Given the description of an element on the screen output the (x, y) to click on. 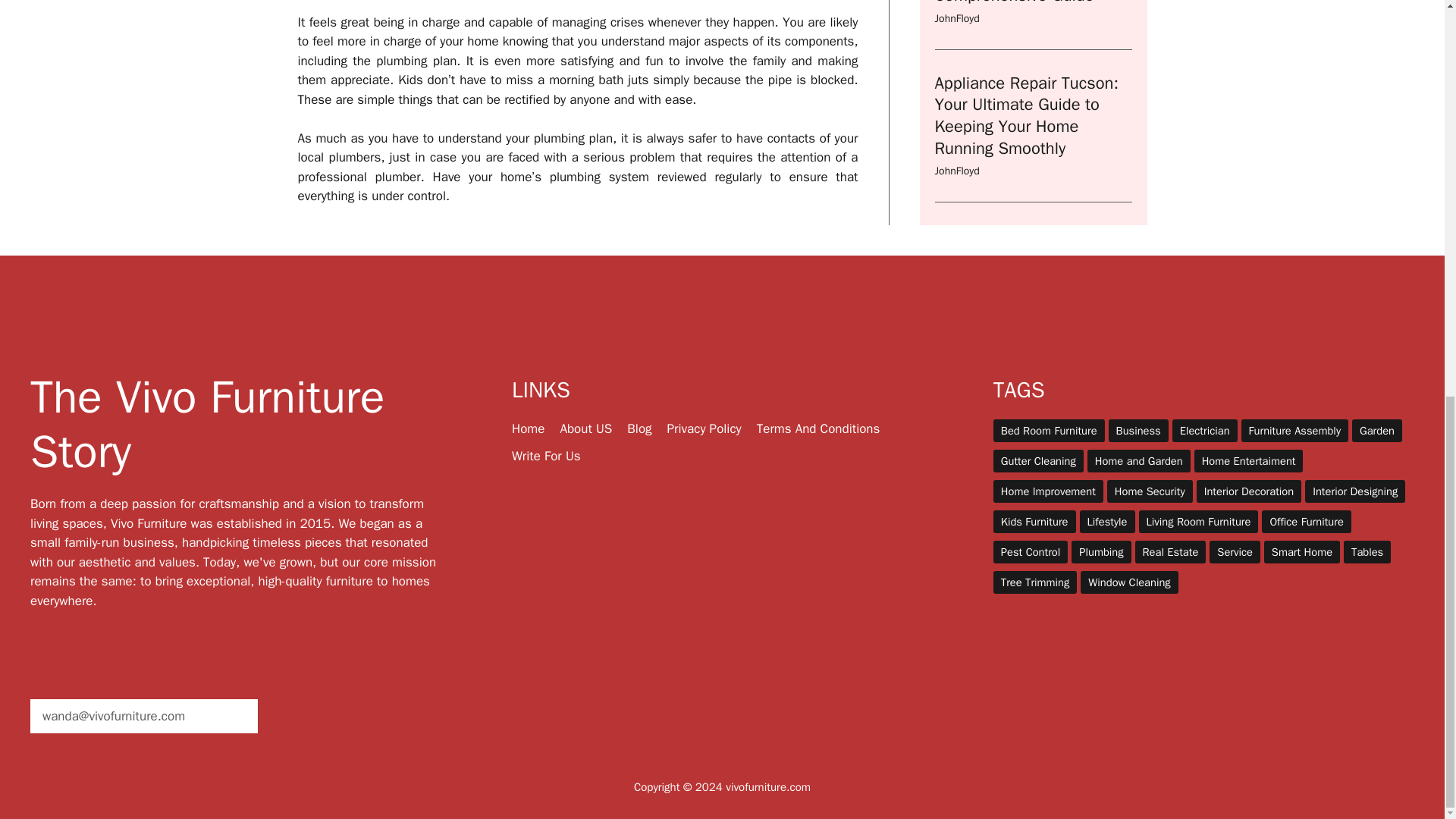
Home Entertaiment (1248, 460)
Blog (638, 428)
Write For Us (546, 455)
Gutter Cleaning (1037, 460)
About US (585, 428)
Terms And Conditions (818, 428)
Home (528, 428)
Home and Garden (1139, 460)
Interior Designing (1354, 490)
Electrician (1204, 430)
